Given the description of an element on the screen output the (x, y) to click on. 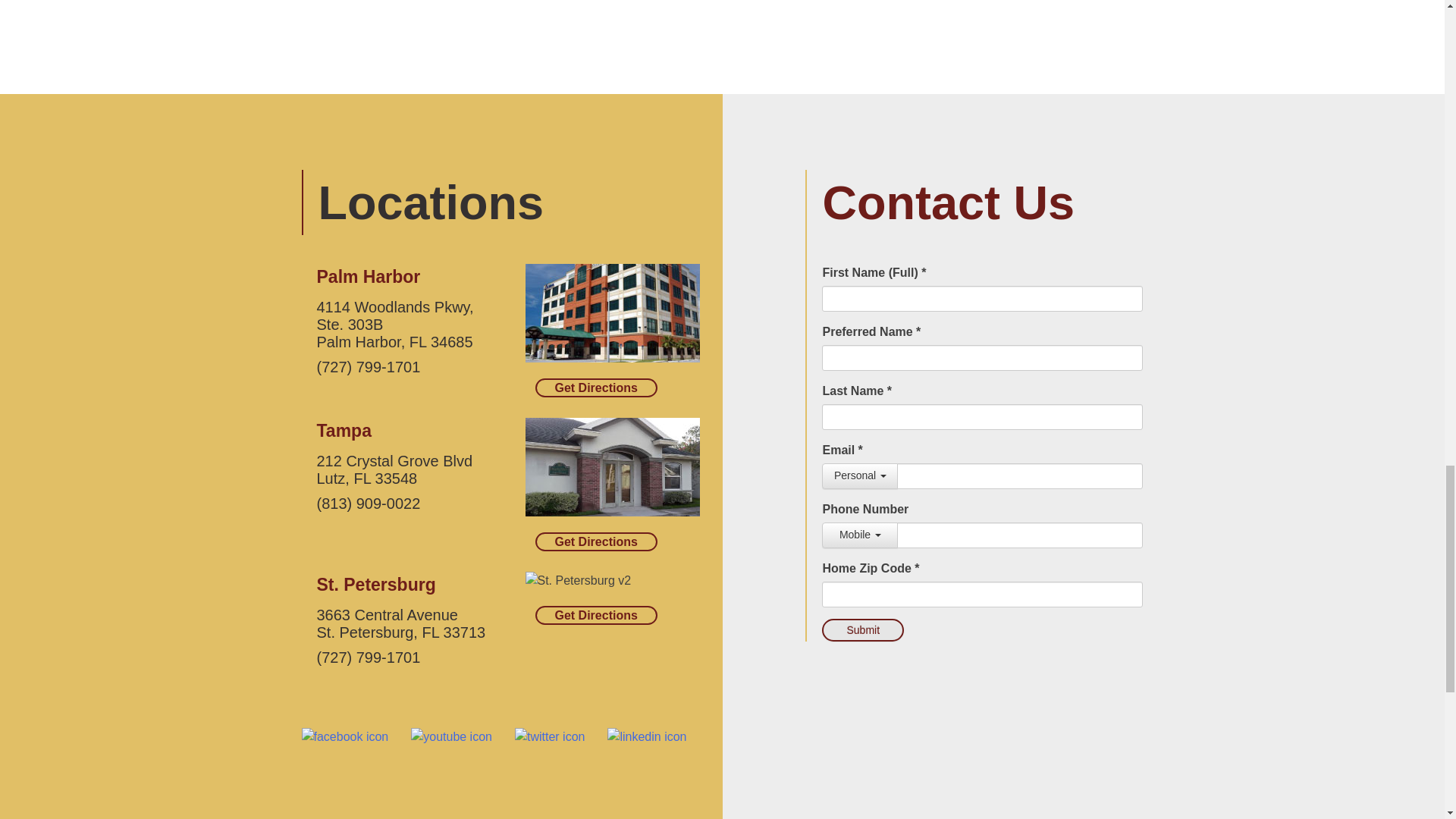
Submit (863, 630)
